Given the description of an element on the screen output the (x, y) to click on. 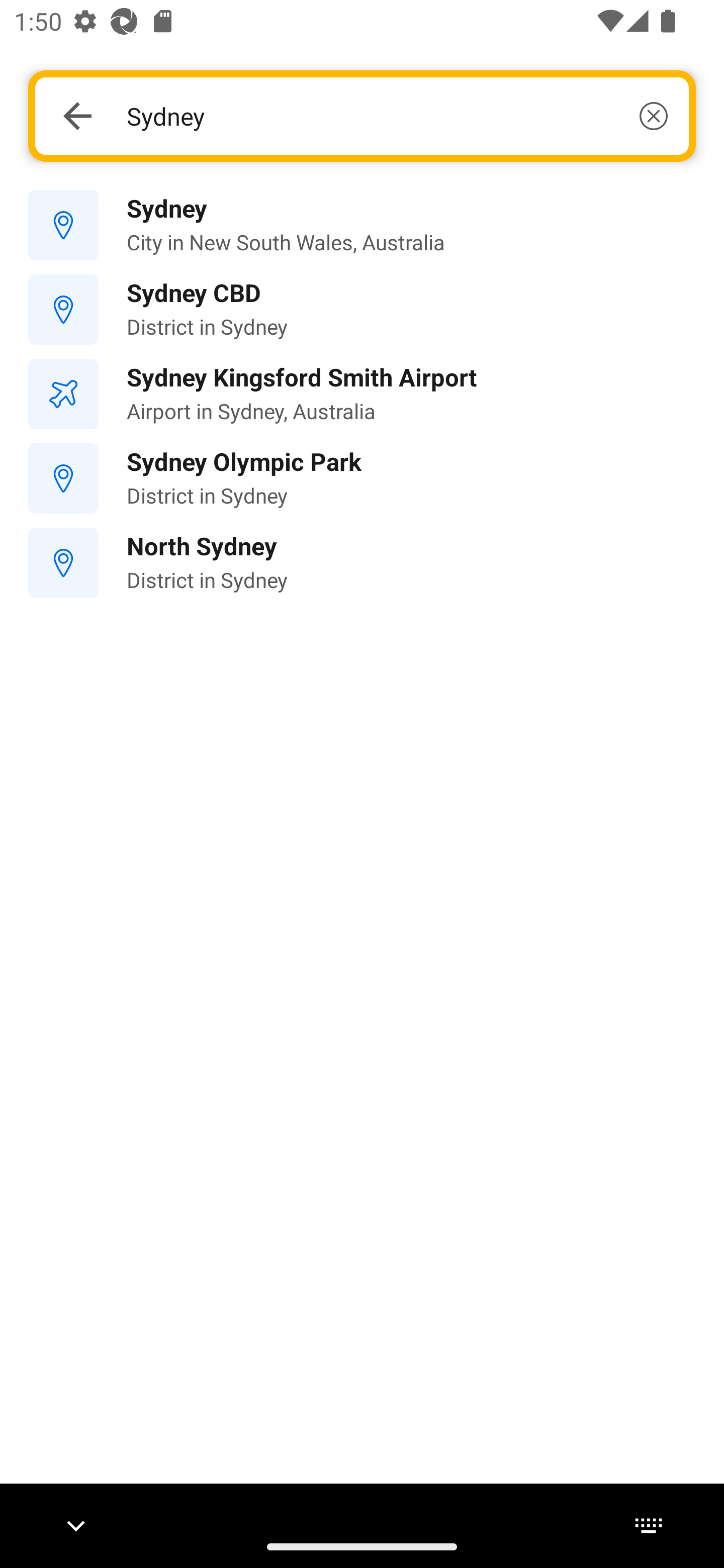
Sydney (396, 115)
Sydney City in New South Wales, Australia (362, 225)
Sydney CBD District in Sydney (362, 309)
Sydney Olympic Park District in Sydney (362, 477)
North Sydney District in Sydney (362, 562)
